Given the description of an element on the screen output the (x, y) to click on. 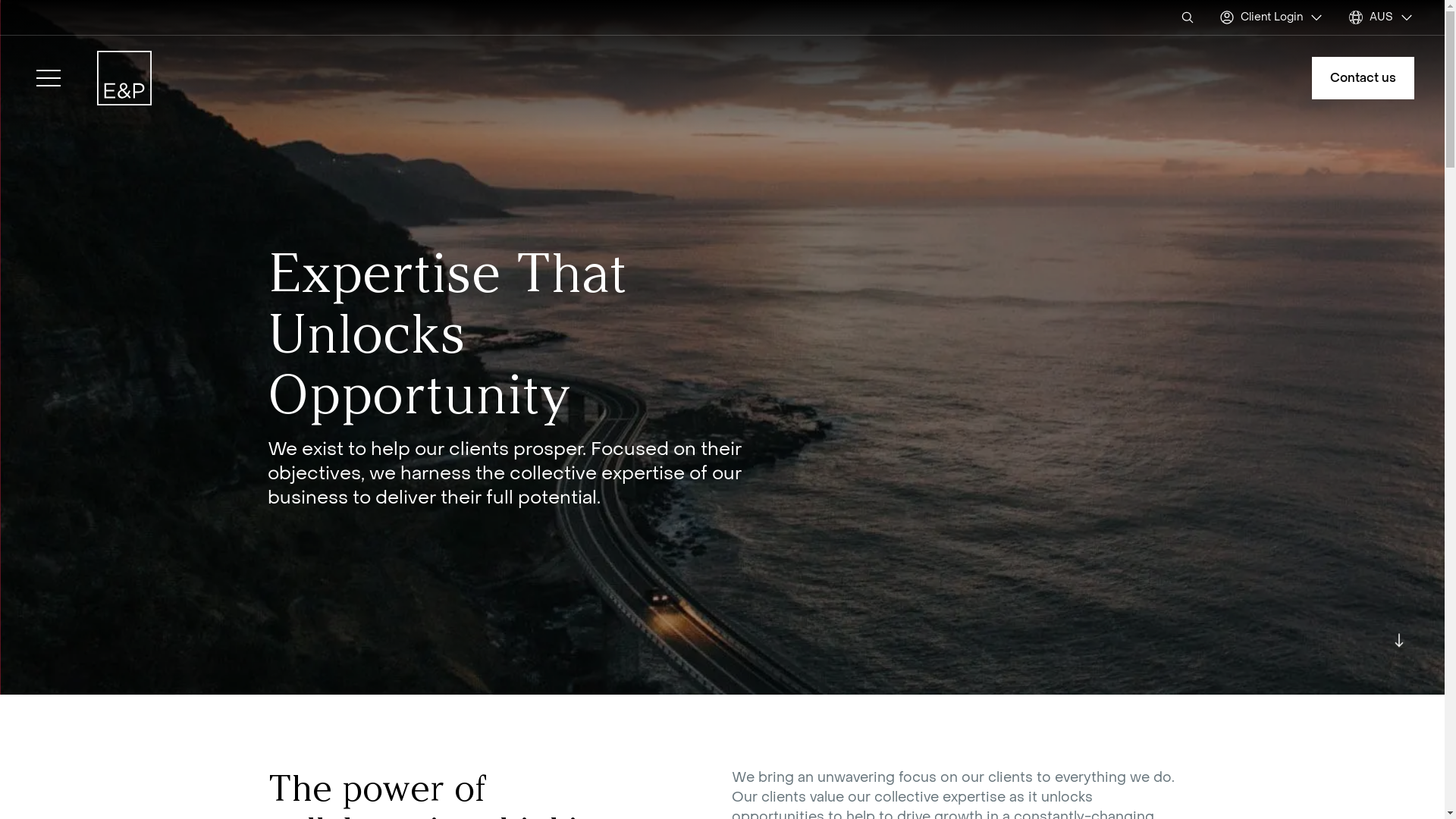
Contact us Element type: text (1362, 77)
E&P Element type: hover (124, 77)
AUS Element type: text (1381, 17)
Client Login Element type: text (1271, 17)
